Given the description of an element on the screen output the (x, y) to click on. 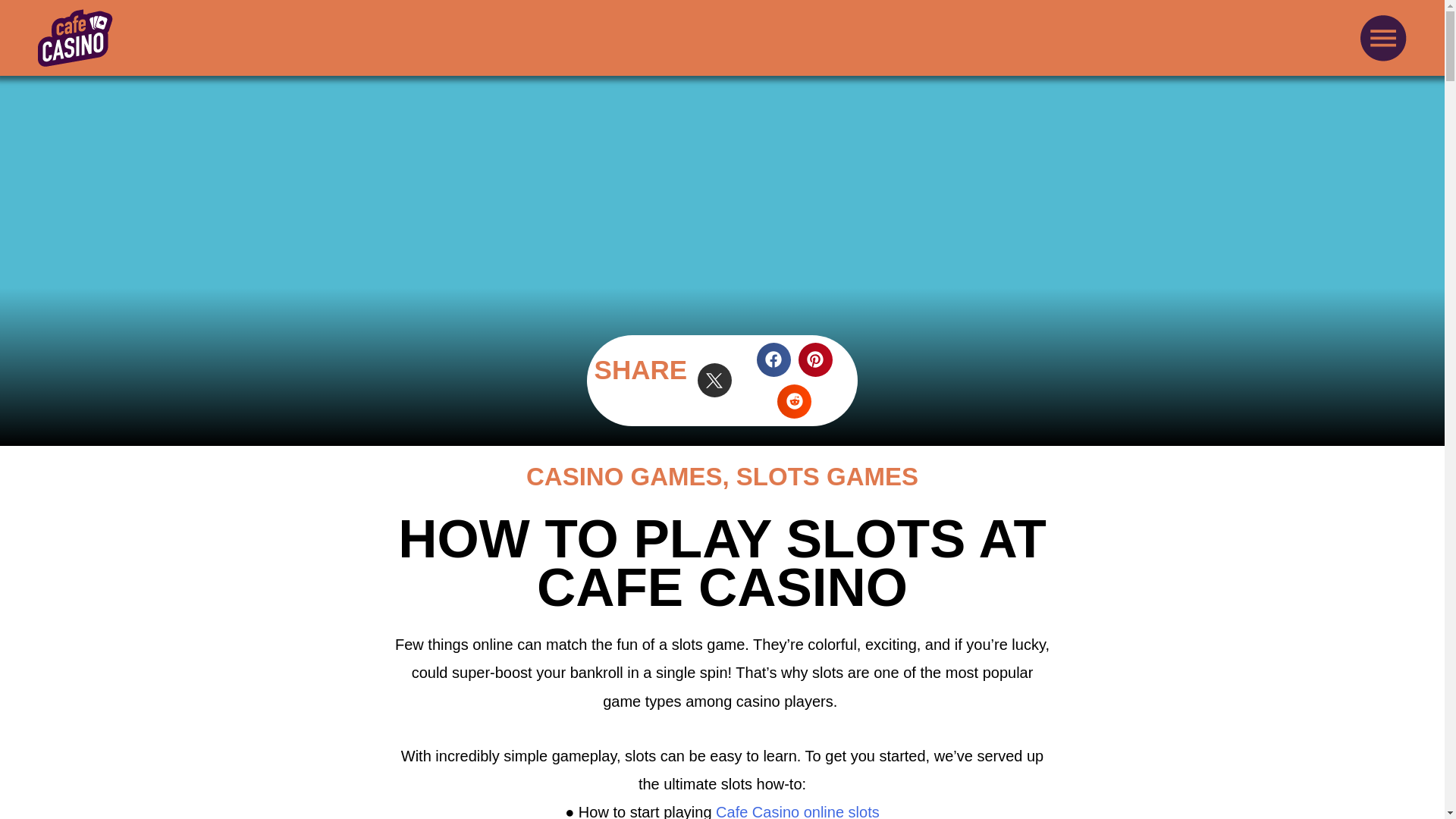
CASINO GAMES (623, 476)
SLOTS GAMES (827, 476)
Cafe Casino online slots (797, 811)
